Given the description of an element on the screen output the (x, y) to click on. 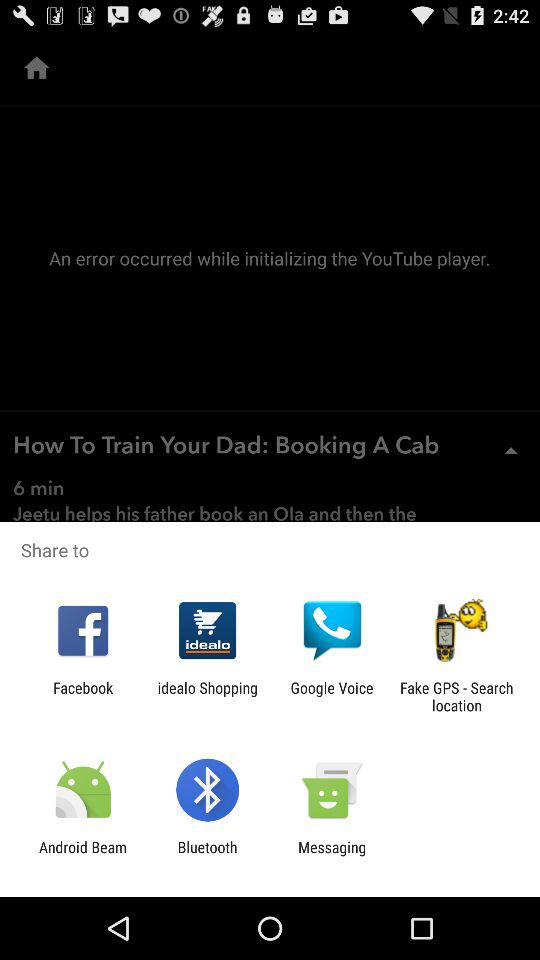
choose item next to facebook app (207, 696)
